Given the description of an element on the screen output the (x, y) to click on. 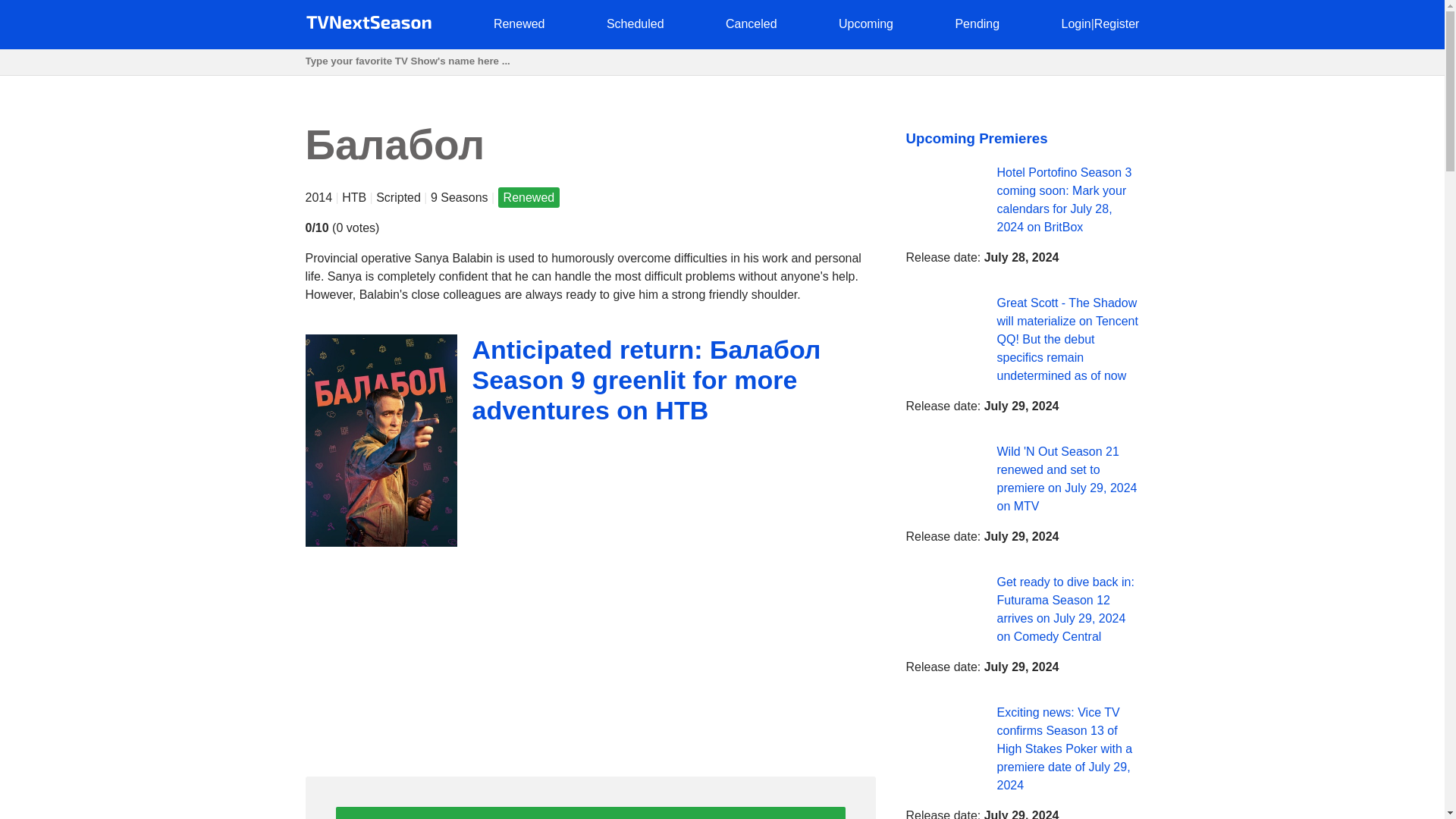
Scheduled (635, 23)
Renewed (518, 23)
Upcoming (865, 23)
Canceled (751, 23)
Pending (976, 23)
Login (1075, 23)
Advertisement (589, 658)
Register (1117, 23)
